Given the description of an element on the screen output the (x, y) to click on. 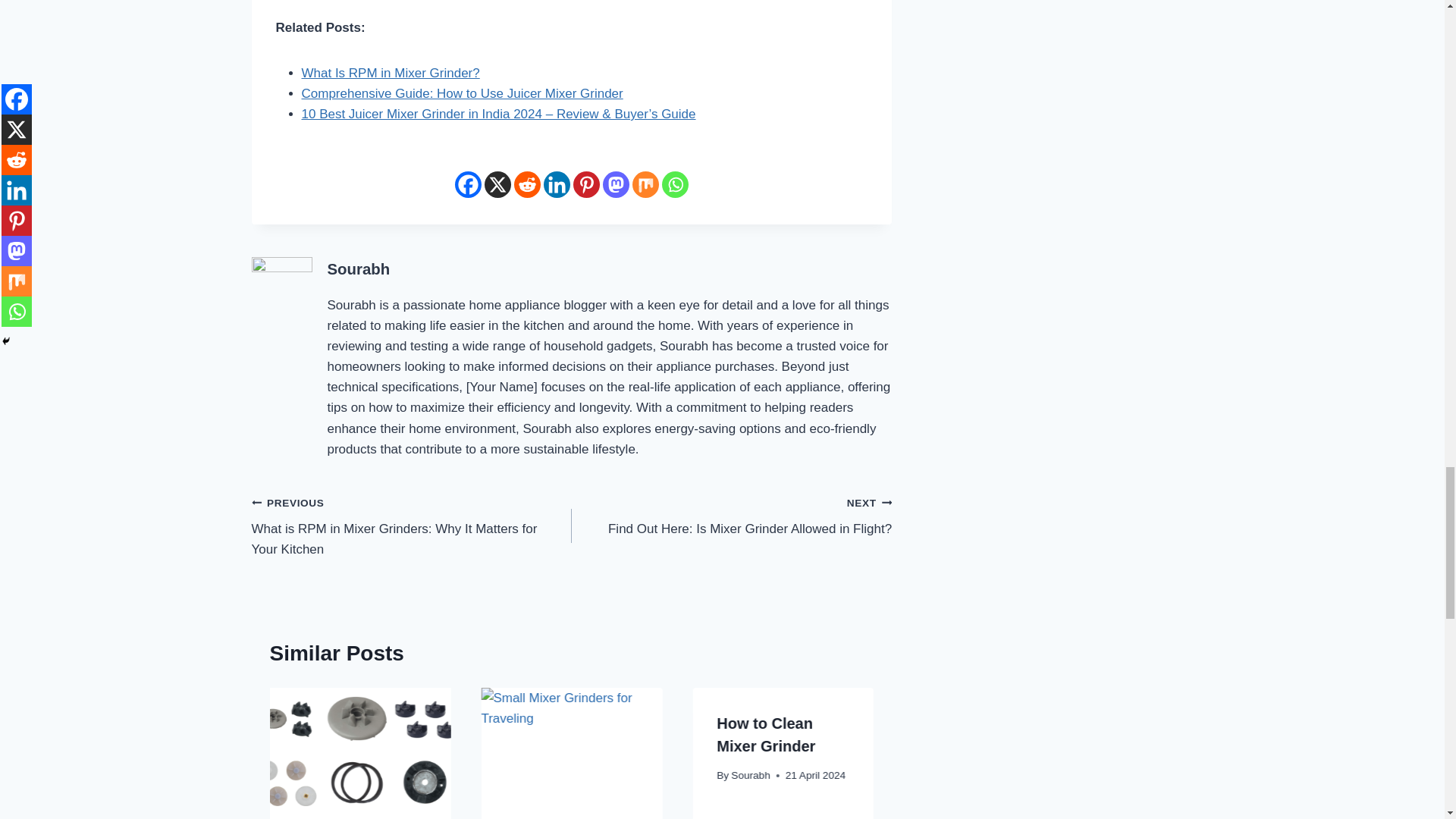
Linkedin (556, 184)
Reddit (526, 184)
What Is RPM in Mixer Grinder? (390, 73)
Pinterest (586, 184)
Facebook (467, 184)
X (497, 184)
Comprehensive Guide: How to Use Juicer Mixer Grinder (462, 93)
